Given the description of an element on the screen output the (x, y) to click on. 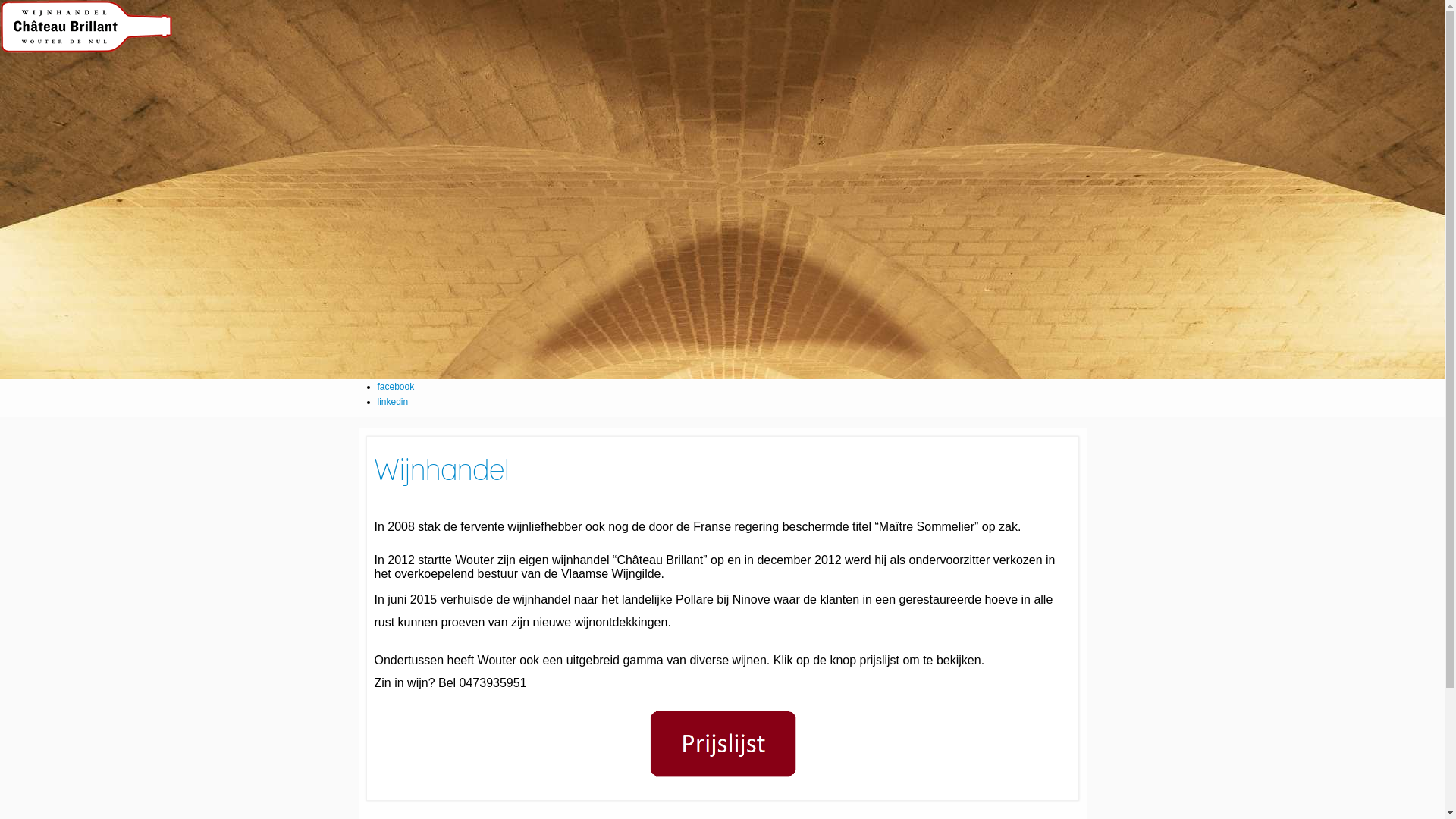
Wijnhandel Element type: text (40, 75)
Prijslijst Element type: text (34, 121)
Wijnhandel Element type: text (441, 471)
Events Element type: text (32, 90)
Webshop Element type: text (37, 136)
Nieuwsbrief Element type: text (42, 105)
Wouter Element type: text (32, 60)
facebook Element type: text (395, 386)
Contact Element type: text (34, 151)
linkedin Element type: text (392, 401)
